Given the description of an element on the screen output the (x, y) to click on. 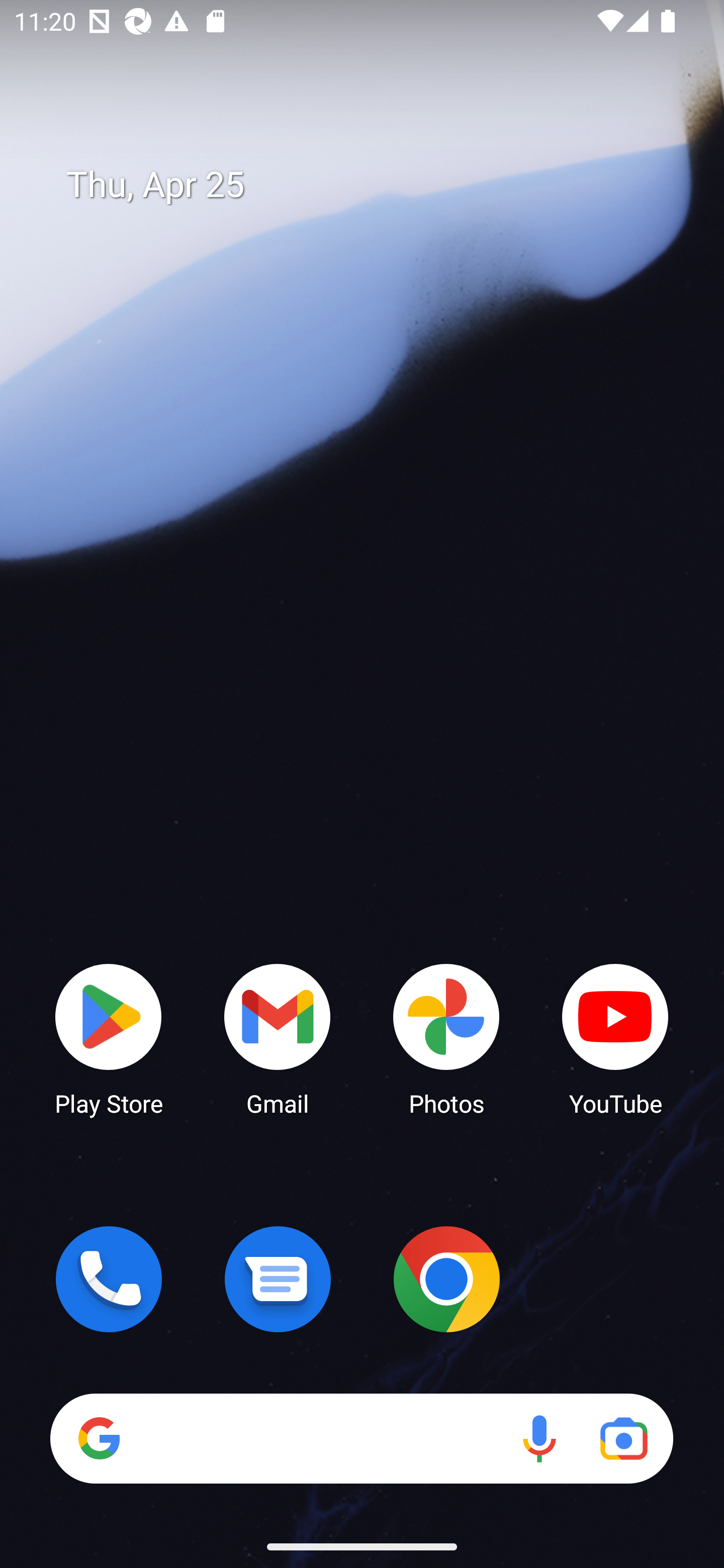
Thu, Apr 25 (375, 184)
Play Store (108, 1038)
Gmail (277, 1038)
Photos (445, 1038)
YouTube (615, 1038)
Phone (108, 1279)
Messages (277, 1279)
Chrome (446, 1279)
Search Voice search Google Lens (361, 1438)
Voice search (539, 1438)
Google Lens (623, 1438)
